Given the description of an element on the screen output the (x, y) to click on. 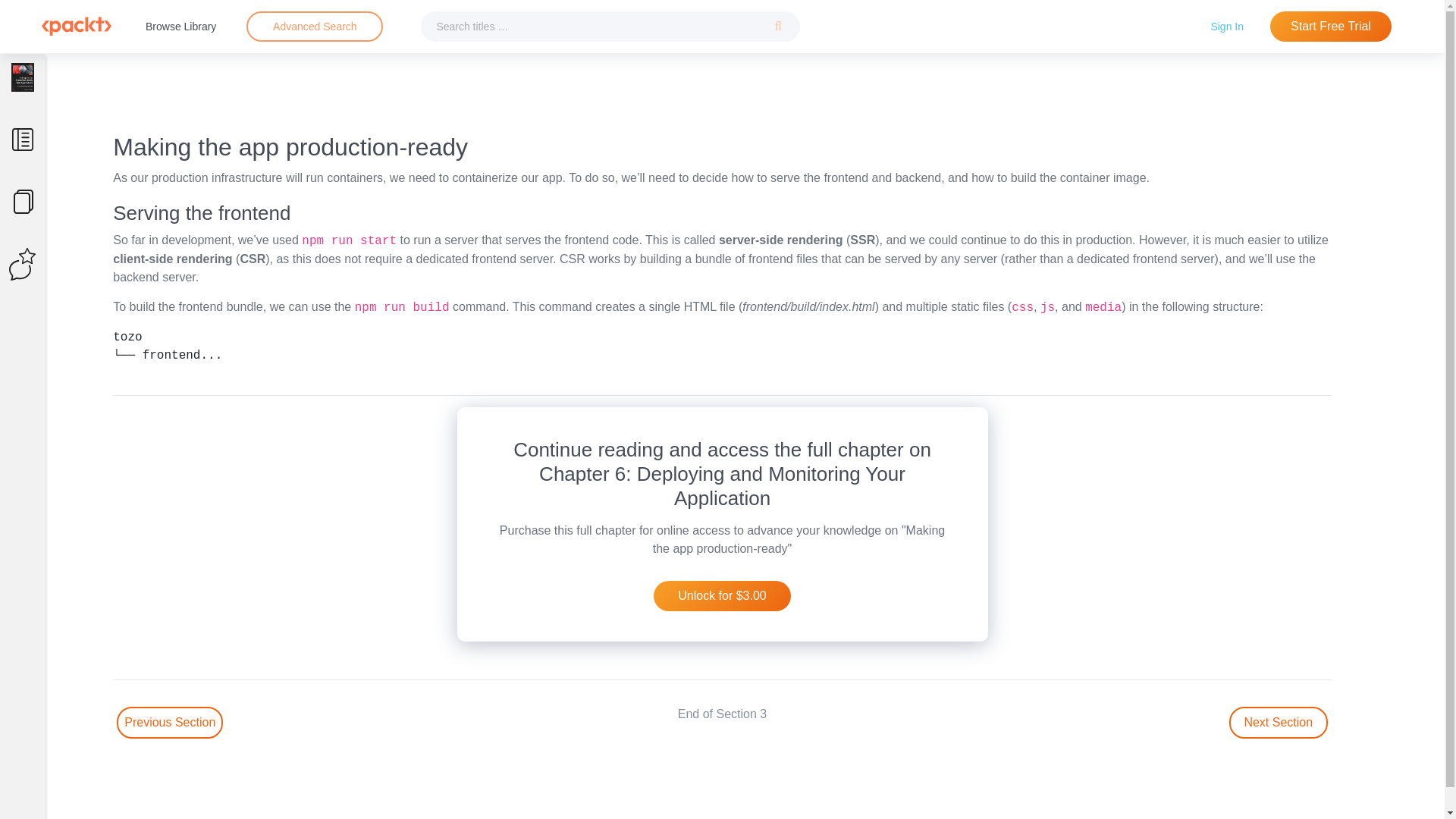
Advanced search (314, 26)
Sign In (1227, 26)
Go to next section (1277, 722)
Start Free Trial (1330, 26)
Advanced Search (315, 26)
Browse Library (180, 26)
Advanced Search (314, 26)
Go to Previous section (169, 722)
